Given the description of an element on the screen output the (x, y) to click on. 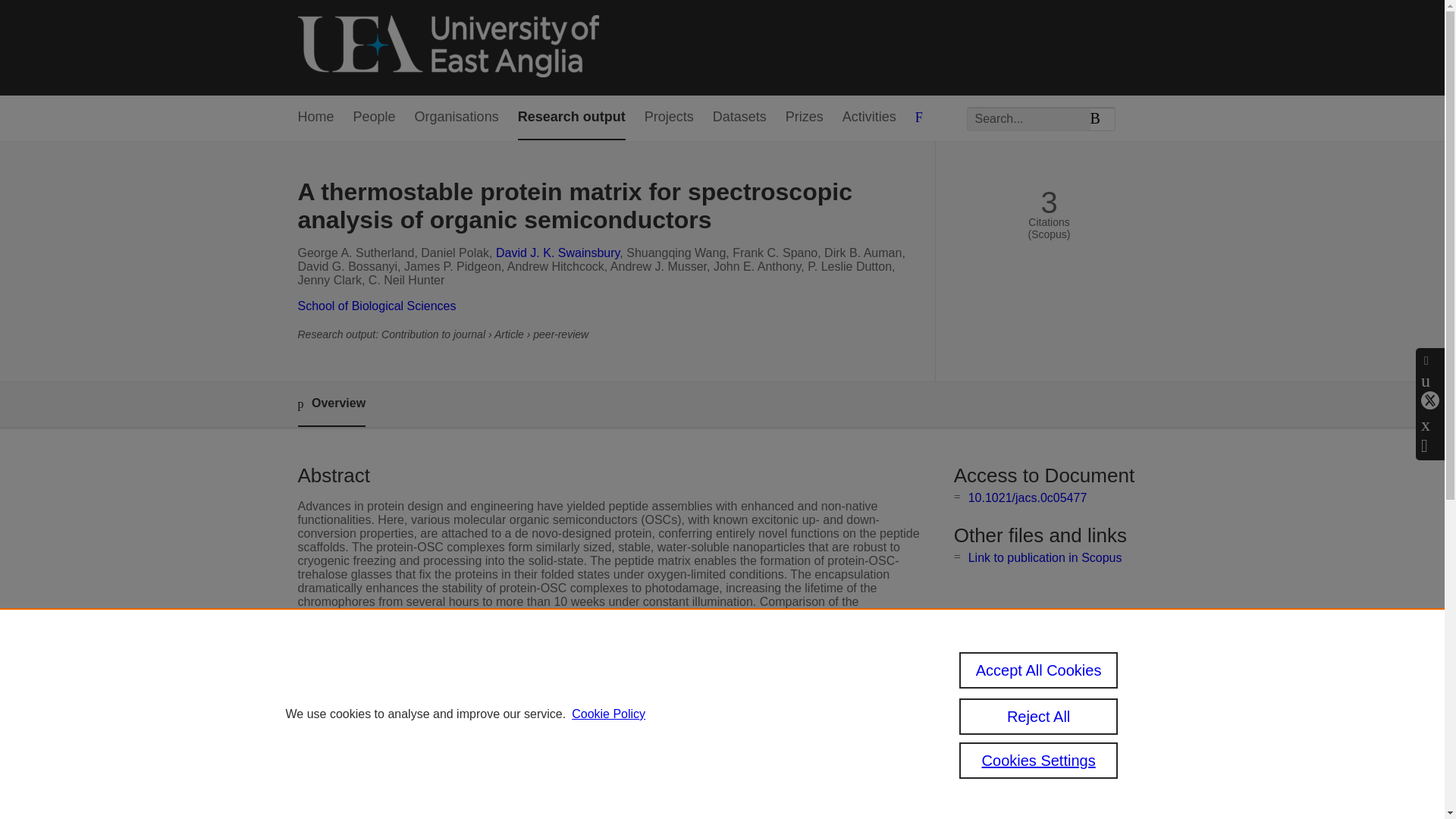
Overview (331, 404)
Activities (869, 117)
University of East Anglia Home (447, 47)
David J. K. Swainsbury (558, 252)
Datasets (740, 117)
Link to publication in Scopus (1045, 557)
Research output (572, 117)
People (374, 117)
Cookie Policy (608, 713)
